Given the description of an element on the screen output the (x, y) to click on. 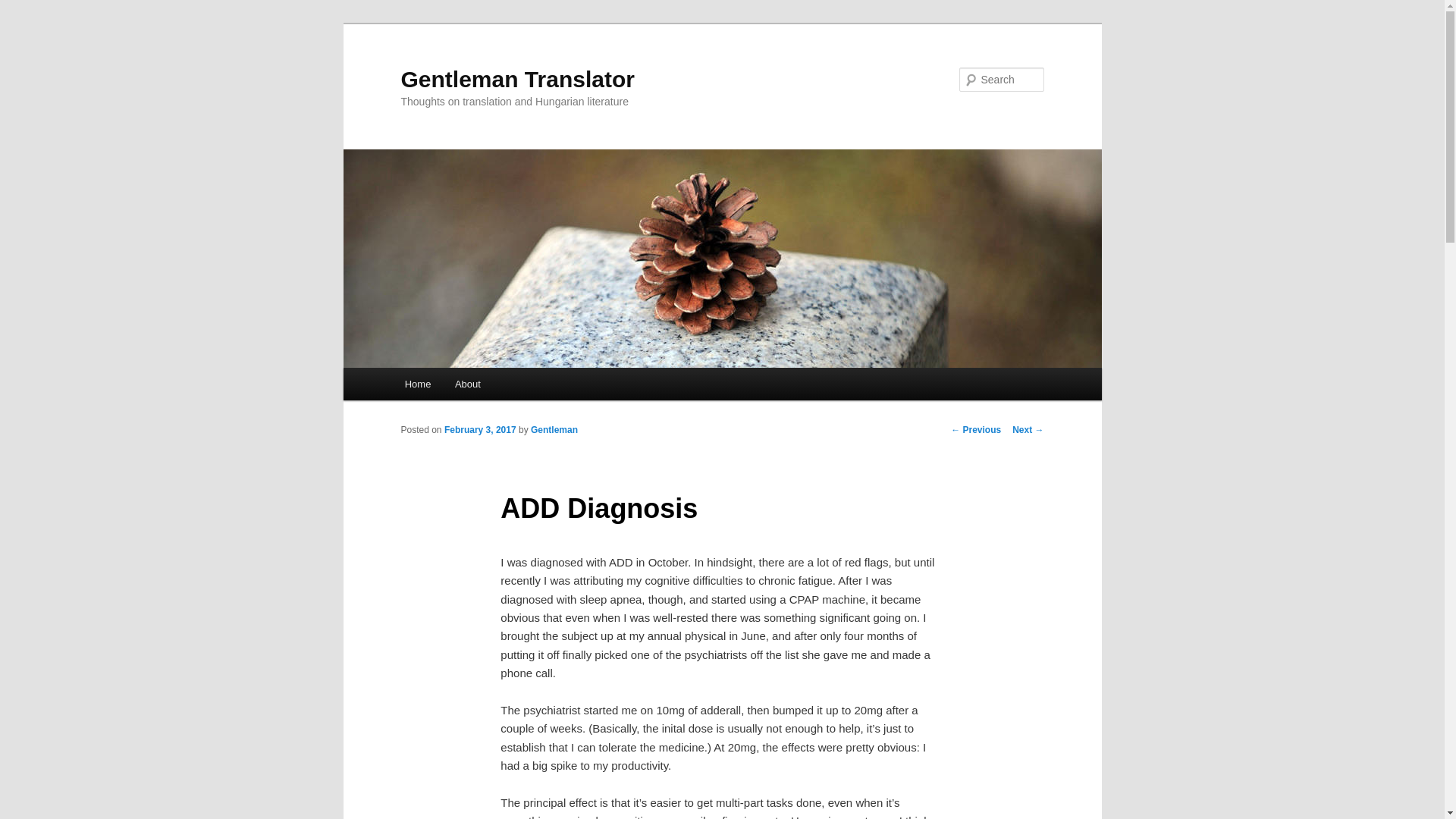
February 3, 2017 (480, 429)
Gentleman Translator (516, 78)
Skip to secondary content (479, 386)
Skip to primary content (472, 386)
Gentleman Translator (516, 78)
5:02 am (480, 429)
Skip to secondary content (479, 386)
Skip to primary content (472, 386)
About (467, 383)
Home (417, 383)
Gentleman (554, 429)
Search (24, 8)
View all posts by Gentleman (554, 429)
